Given the description of an element on the screen output the (x, y) to click on. 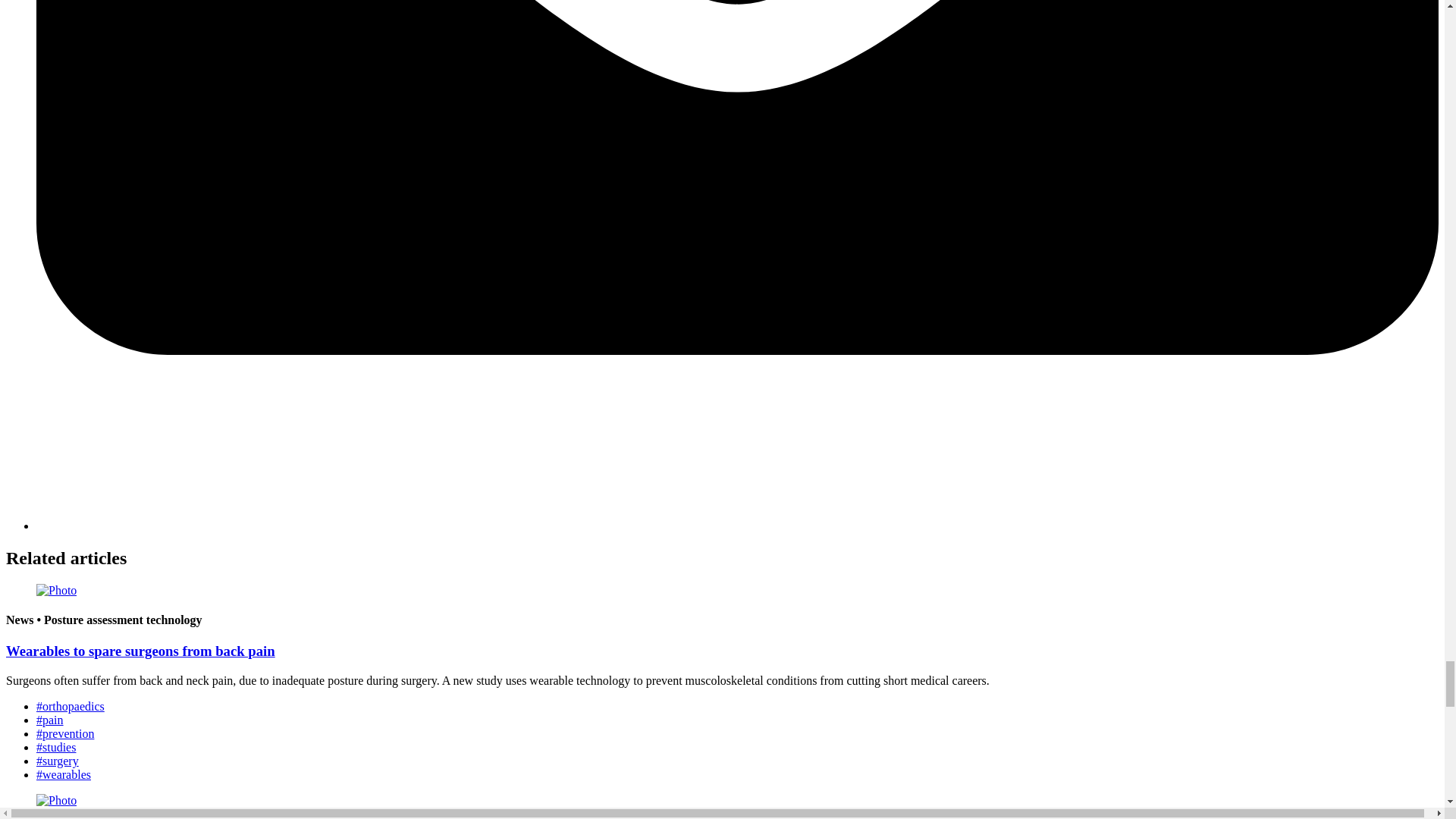
Wearables to spare surgeons from back pain (140, 650)
Wearables to spare surgeons from back pain (140, 650)
